Given the description of an element on the screen output the (x, y) to click on. 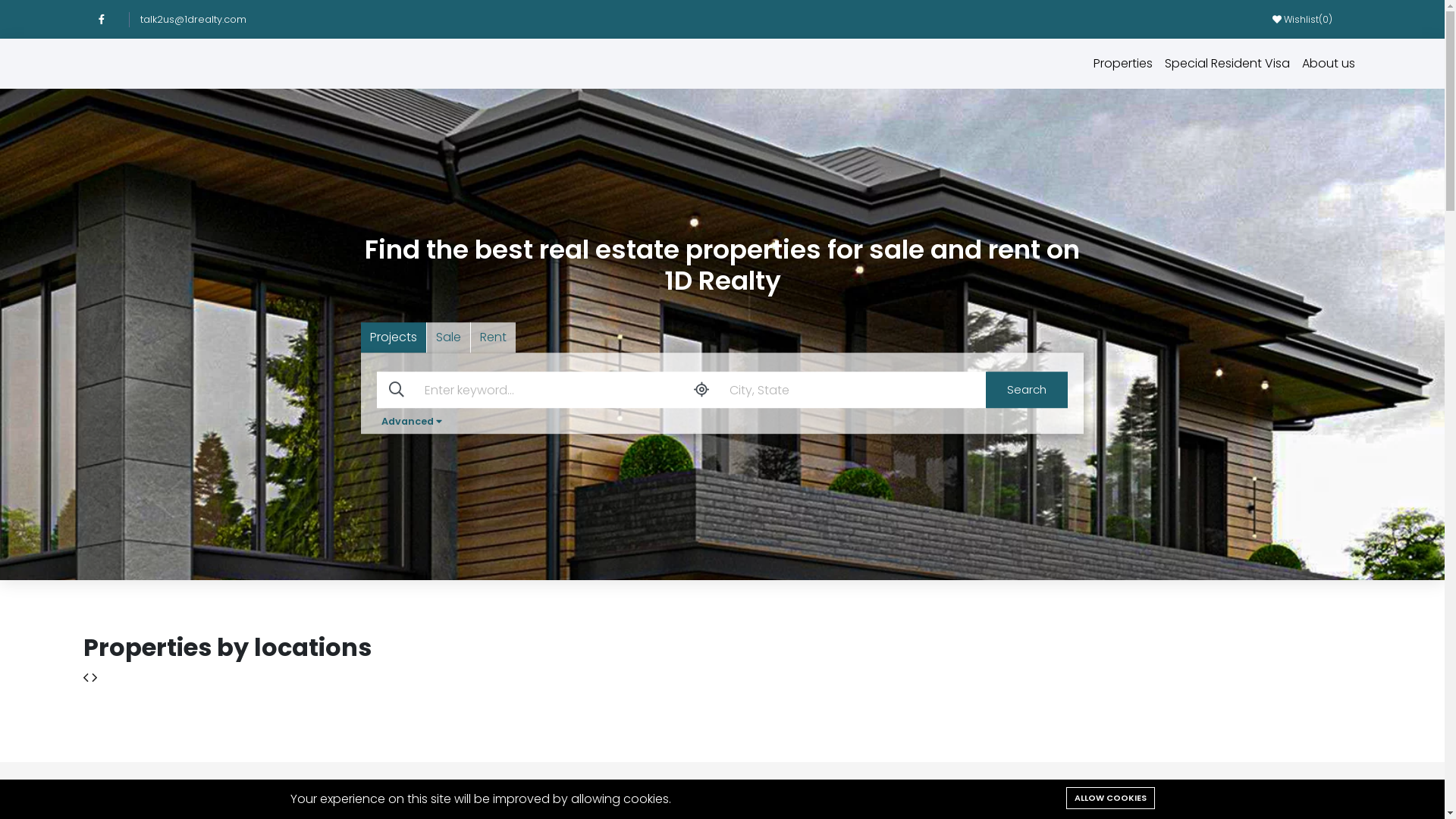
Wishlist(0) Element type: text (1302, 18)
Rent Element type: text (492, 337)
Advanced Element type: text (411, 420)
Facebook Element type: hover (108, 19)
talk2us@1drealty.com Element type: text (200, 19)
 0917 190 6699 Element type: text (1323, 794)
ALLOW COOKIES Element type: text (1110, 798)
Properties Element type: text (1122, 63)
Search Element type: text (1026, 389)
About us Element type: text (1328, 63)
Projects Element type: text (393, 337)
Special Resident Visa Element type: text (1226, 63)
Sale Element type: text (448, 337)
